Given the description of an element on the screen output the (x, y) to click on. 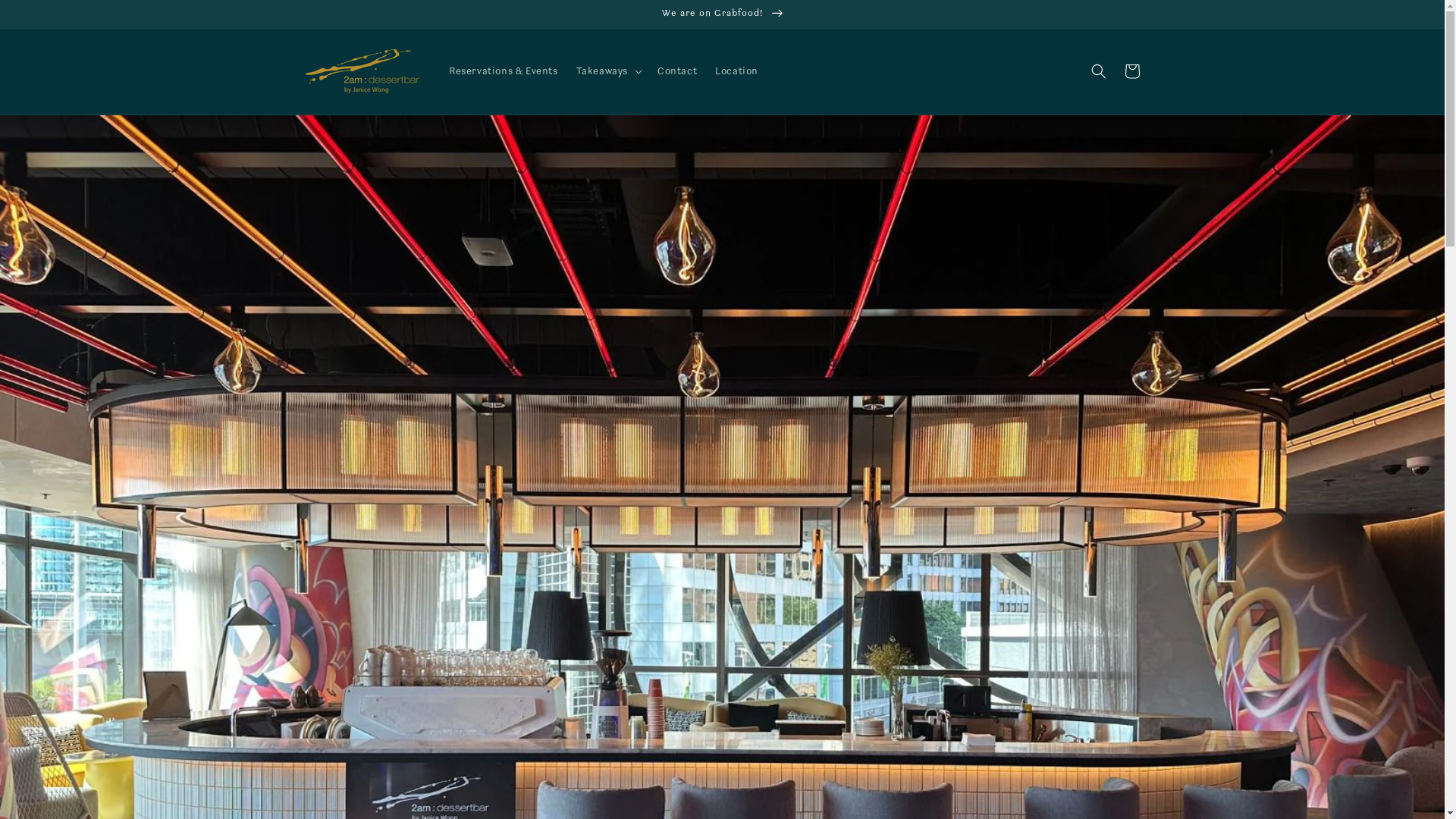
Reservations & Events Element type: text (503, 71)
Location Element type: text (736, 71)
We are on Grabfood! Element type: text (722, 14)
Cart Element type: text (1131, 70)
Contact Element type: text (677, 71)
